Given the description of an element on the screen output the (x, y) to click on. 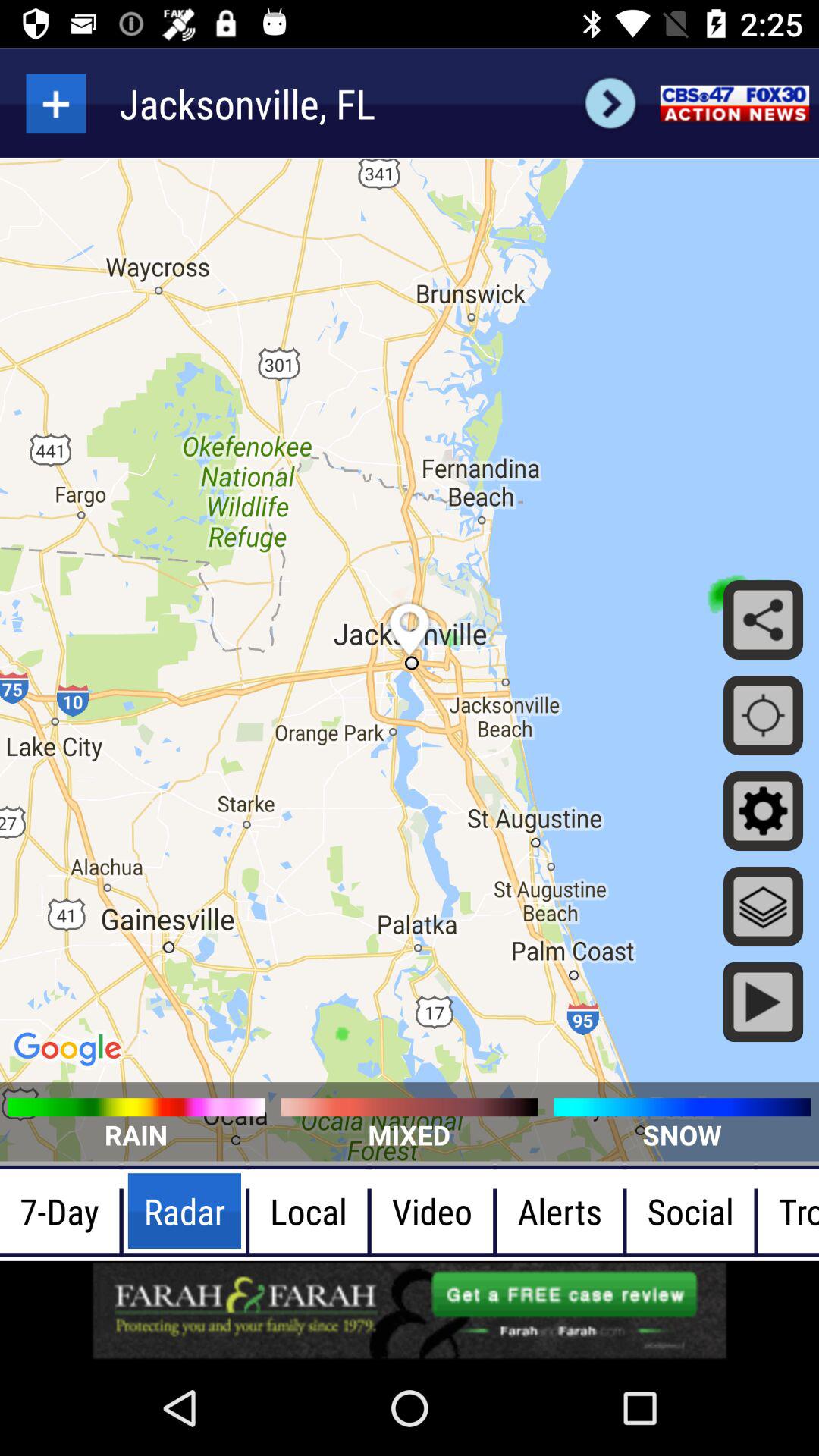
zoom in (55, 103)
